Given the description of an element on the screen output the (x, y) to click on. 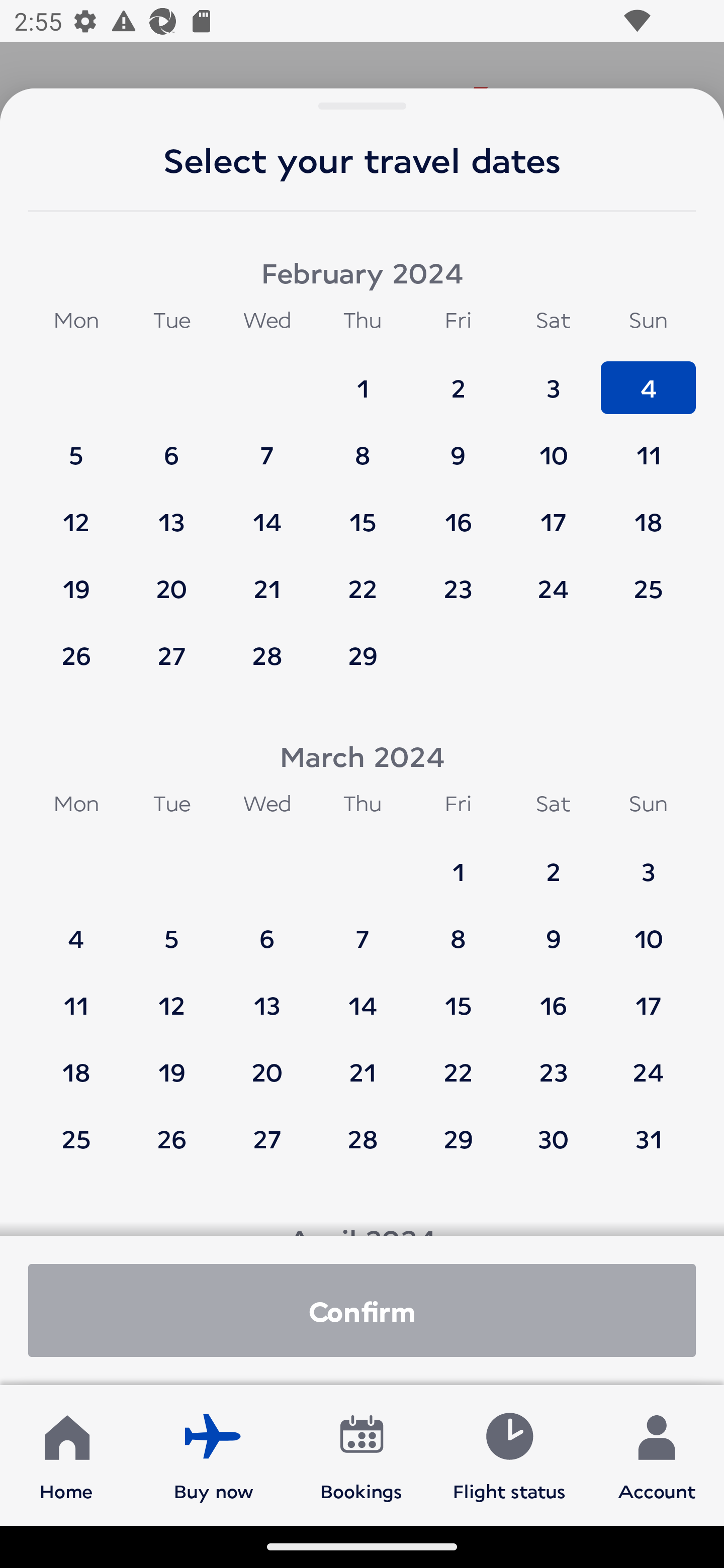
1 (362, 379)
2 (458, 379)
3 (553, 379)
4 (647, 379)
5 (75, 445)
6 (171, 445)
7 (266, 445)
8 (362, 445)
9 (458, 445)
10 (553, 445)
11 (647, 445)
12 (75, 512)
13 (171, 512)
14 (266, 512)
15 (362, 512)
16 (458, 512)
17 (553, 512)
18 (647, 512)
19 (75, 579)
20 (171, 579)
21 (266, 579)
22 (362, 579)
23 (458, 579)
24 (553, 579)
25 (647, 579)
26 (75, 655)
27 (171, 655)
28 (266, 655)
29 (362, 655)
1 (458, 862)
2 (553, 862)
3 (647, 862)
4 (75, 928)
5 (171, 928)
6 (266, 928)
7 (362, 928)
8 (458, 928)
9 (553, 928)
10 (647, 928)
11 (75, 996)
12 (171, 996)
13 (266, 996)
14 (362, 996)
15 (458, 996)
16 (553, 996)
17 (647, 996)
18 (75, 1063)
19 (171, 1063)
20 (266, 1063)
21 (362, 1063)
22 (458, 1063)
23 (553, 1063)
24 (647, 1063)
25 (75, 1138)
26 (171, 1138)
27 (266, 1138)
28 (362, 1138)
29 (458, 1138)
30 (553, 1138)
31 (647, 1138)
Confirm (361, 1309)
Home (66, 1454)
Bookings (361, 1454)
Flight status (509, 1454)
Account (657, 1454)
